Given the description of an element on the screen output the (x, y) to click on. 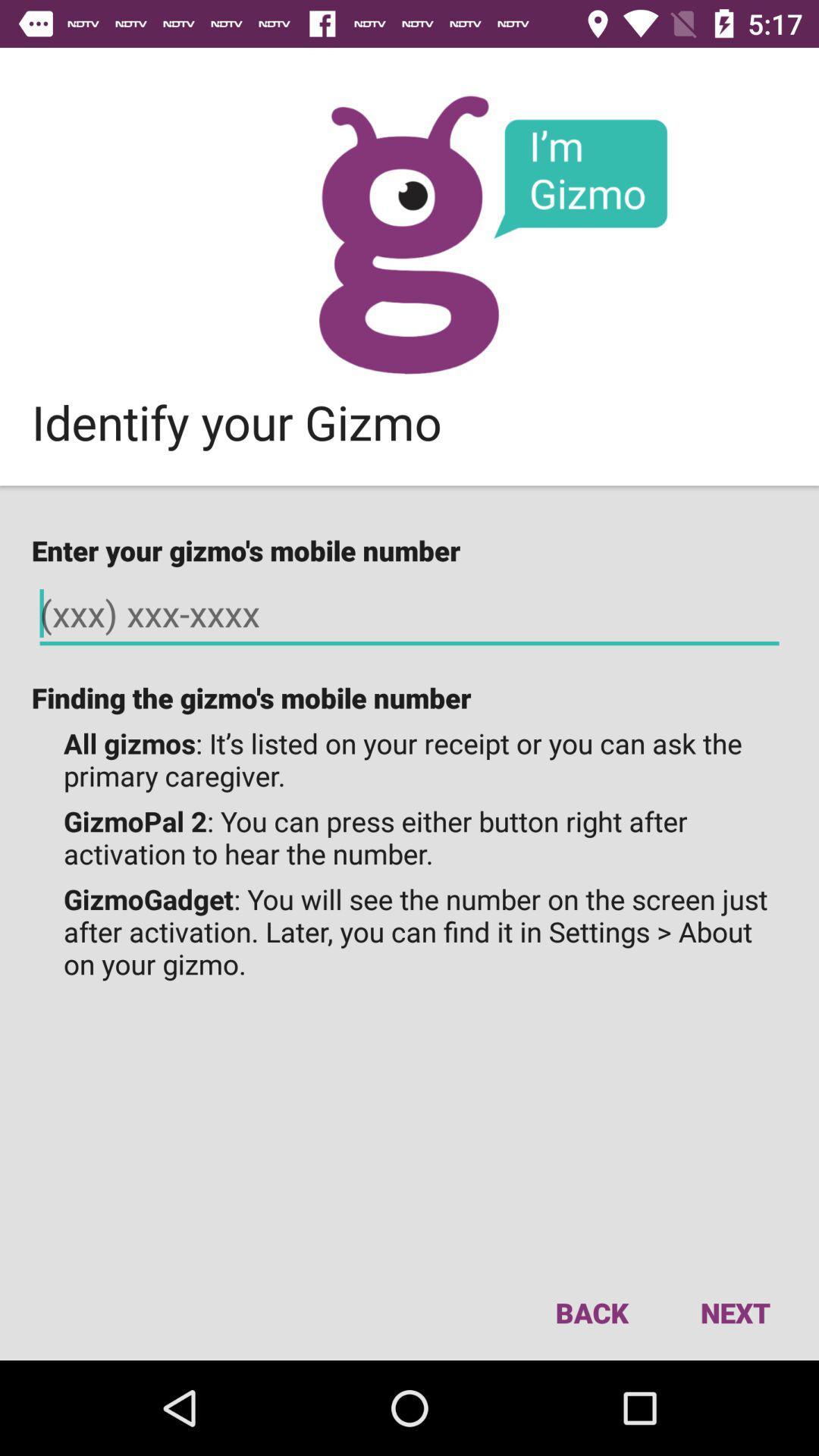
go to gizmo account (408, 234)
